Given the description of an element on the screen output the (x, y) to click on. 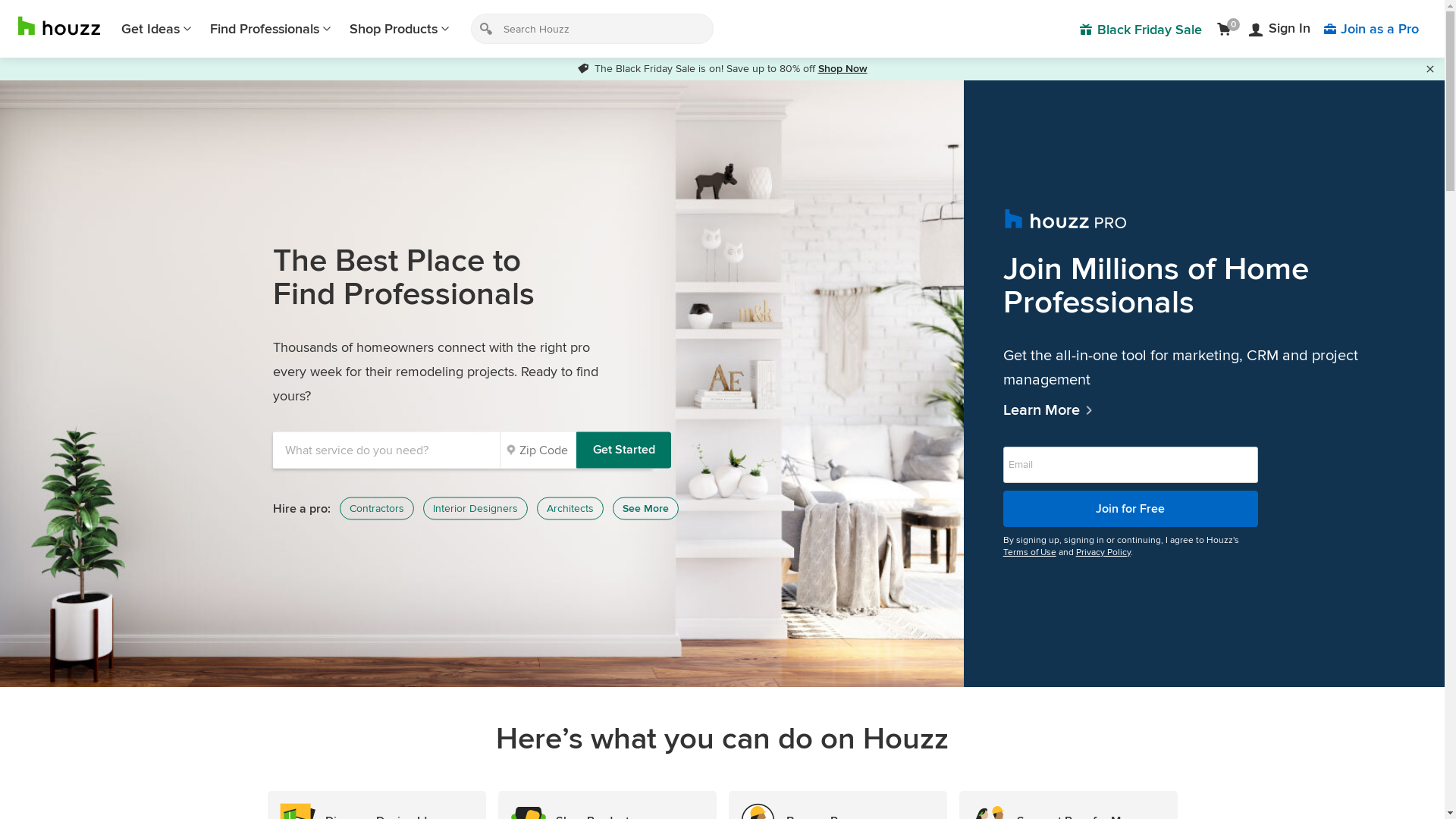
Contractors Element type: text (376, 508)
Sign In Element type: text (1279, 28)
Join as a Pro Element type: text (1371, 27)
Architects Element type: text (569, 508)
0 Element type: text (1226, 28)
Learn More Element type: text (1204, 409)
Get Started Element type: text (623, 450)
Join for Free Element type: text (1130, 507)
Shop Now Element type: text (841, 68)
Shop Products Element type: text (399, 28)
Get Ideas Element type: text (156, 28)
See More Element type: text (645, 508)
Find Professionals Element type: text (270, 28)
Privacy Policy Element type: text (1103, 551)
The Black Friday Sale is on! Save up to 80% off  Element type: text (697, 68)
Black Friday Sale Element type: text (1140, 28)
Terms of Use Element type: text (1029, 551)
Interior Designers Element type: text (475, 508)
